Given the description of an element on the screen output the (x, y) to click on. 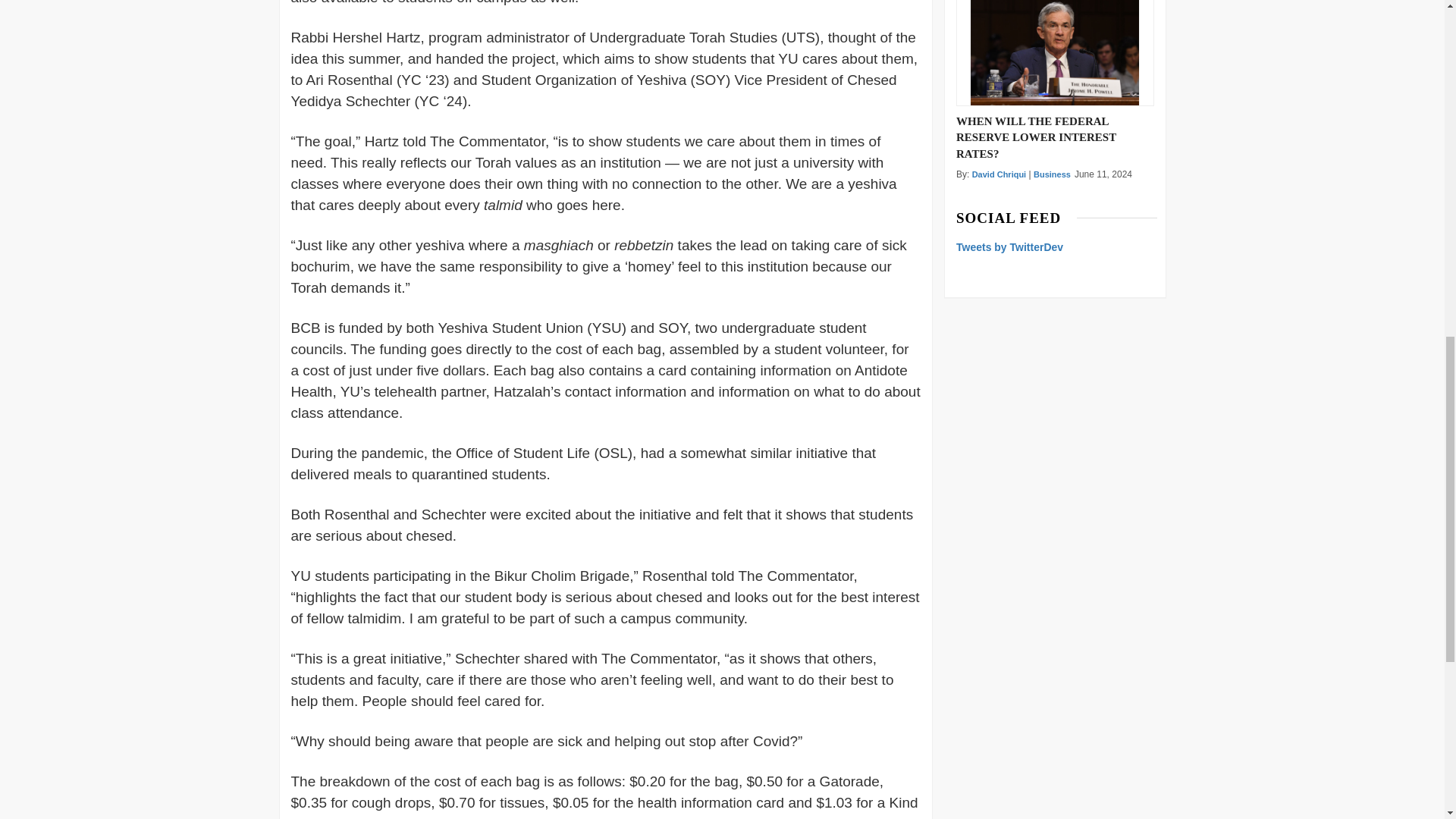
WHEN WILL THE FEDERAL RESERVE LOWER INTEREST RATES? (1055, 136)
When Will The Federal Reserve Lower Interest Rates? (1054, 52)
